Given the description of an element on the screen output the (x, y) to click on. 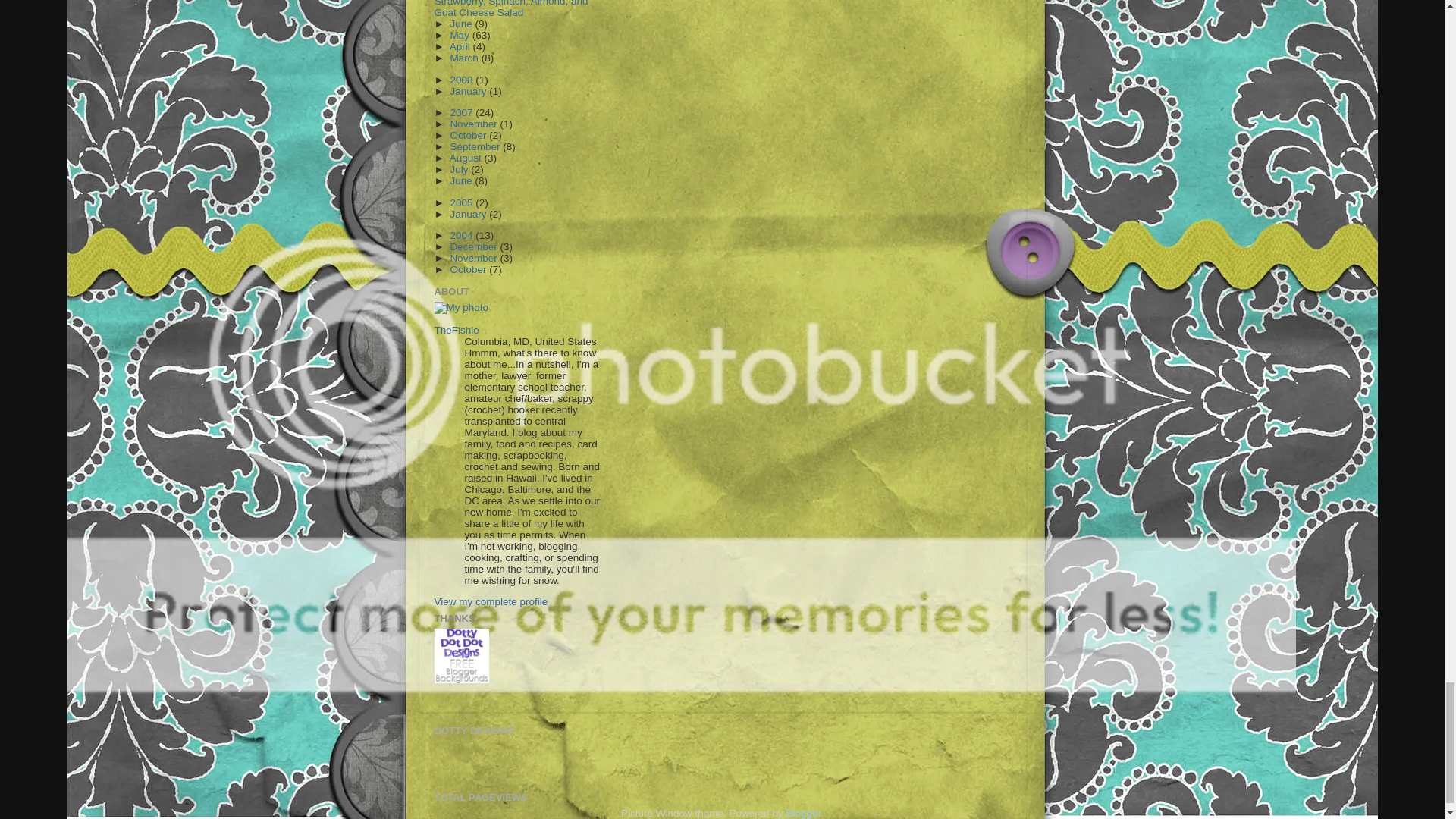
Dotty Dot Dot Design FREE Blogger Backgrounds (460, 679)
 Dotty Dot Dot Design FREE Blogger Backgrounds  (460, 655)
